Given the description of an element on the screen output the (x, y) to click on. 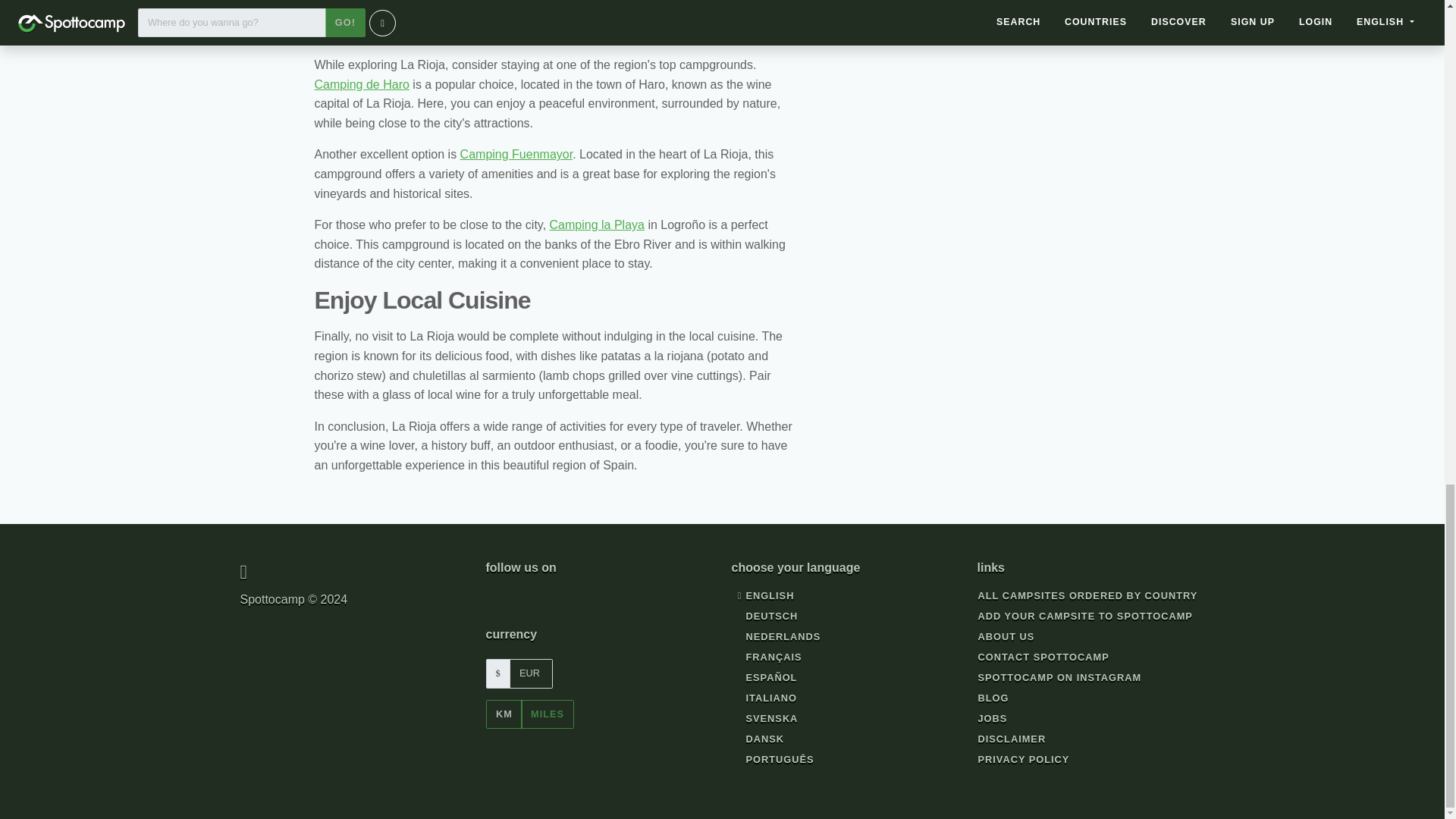
SVENSKA (764, 718)
NEDERLANDS (776, 637)
DANSK (758, 739)
KM (502, 714)
Camping la Playa (597, 224)
MILES (547, 714)
Camping Fuenmayor (516, 154)
ITALIANO (763, 698)
Camping de Haro (361, 83)
DEUTSCH (764, 616)
